Given the description of an element on the screen output the (x, y) to click on. 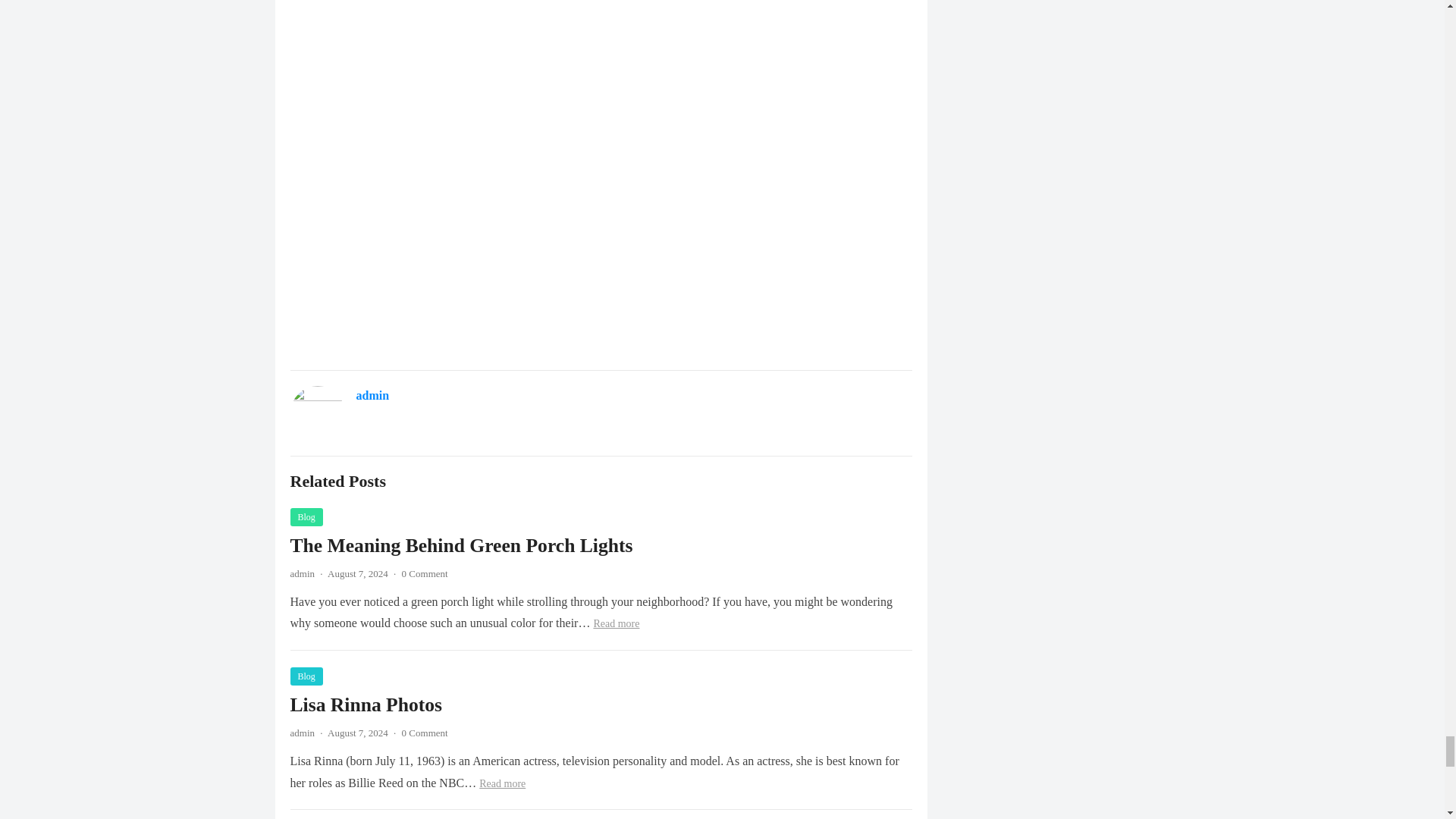
admin (301, 573)
admin (373, 395)
Blog (305, 676)
Posts by admin (301, 573)
Posts by admin (301, 732)
Read more (615, 623)
0 Comment (424, 732)
The Meaning Behind Green Porch Lights (460, 545)
admin (301, 732)
0 Comment (424, 573)
